Given the description of an element on the screen output the (x, y) to click on. 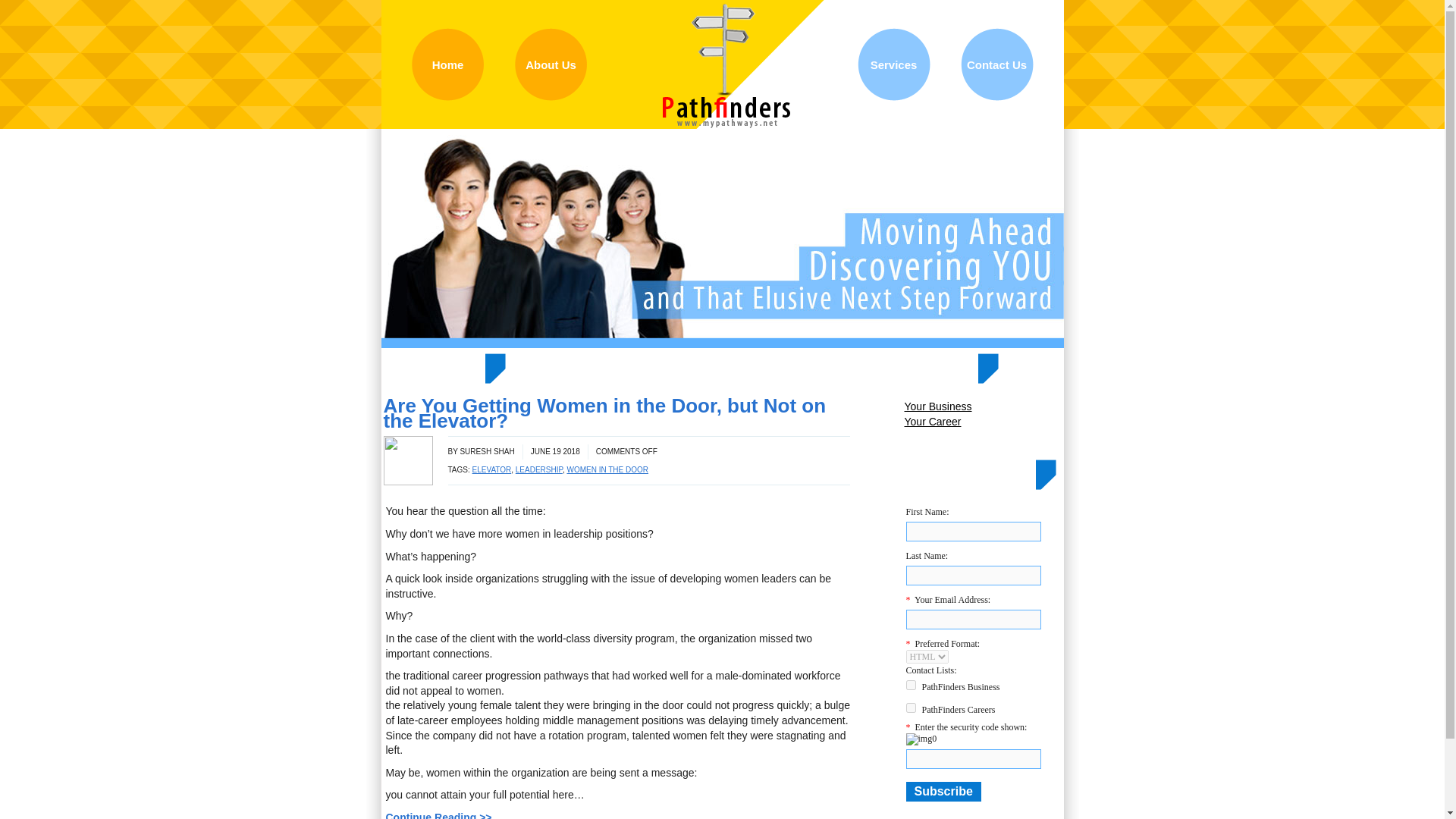
Services (893, 63)
WOMEN IN THE DOOR (606, 470)
Subscribe (942, 791)
Subscribe (942, 791)
About Us (549, 63)
1 (910, 685)
Your Business (983, 406)
ELEVATOR (491, 470)
LEADERSHIP (538, 470)
Are You Getting Women in the Door, but Not on the Elevator? (605, 412)
Home (446, 63)
Your Career (983, 421)
Contact Us (995, 63)
2 (910, 707)
